Given the description of an element on the screen output the (x, y) to click on. 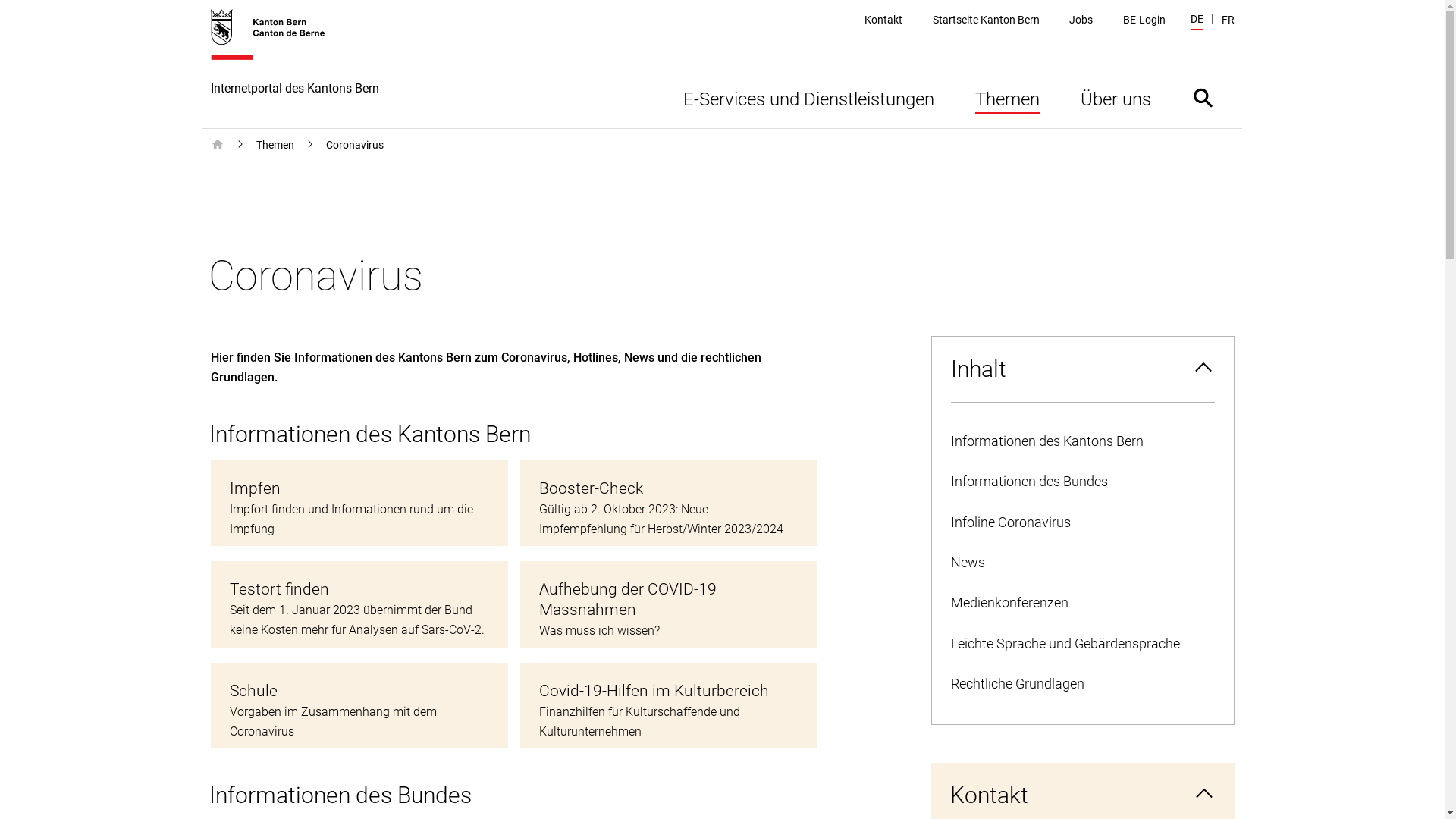
FR Element type: text (1226, 19)
Medienkonferenzen Element type: text (1082, 603)
Informationen des Kantons Bern Element type: text (1082, 441)
E-Services und Dienstleistungen Element type: text (808, 96)
News Element type: text (1082, 562)
Informationen des Bundes Element type: text (1082, 481)
Suche ein- oder ausblenden Element type: text (1201, 96)
Aufhebung der COVID-19 Massnahmen
Was muss ich wissen? Element type: text (668, 604)
BE-Login Element type: text (1144, 19)
Startseite Kanton Bern Element type: text (985, 19)
Infoline Coronavirus Element type: text (1082, 522)
Kontakt Element type: text (883, 19)
Schule
Vorgaben im Zusammenhang mit dem Coronavirus Element type: text (359, 705)
Internetportal Kanton Bern Element type: text (217, 144)
Coronavirus Element type: text (354, 144)
Impfen
Impfort finden und Informationen rund um die Impfung Element type: text (359, 503)
Internetportal des Kantons Bern Element type: text (294, 68)
DE Element type: text (1196, 21)
Themen Element type: text (275, 144)
Inhalt Element type: text (1082, 368)
Rechtliche Grundlagen Element type: text (1082, 684)
Jobs Element type: text (1080, 19)
Themen Element type: text (1006, 96)
